Given the description of an element on the screen output the (x, y) to click on. 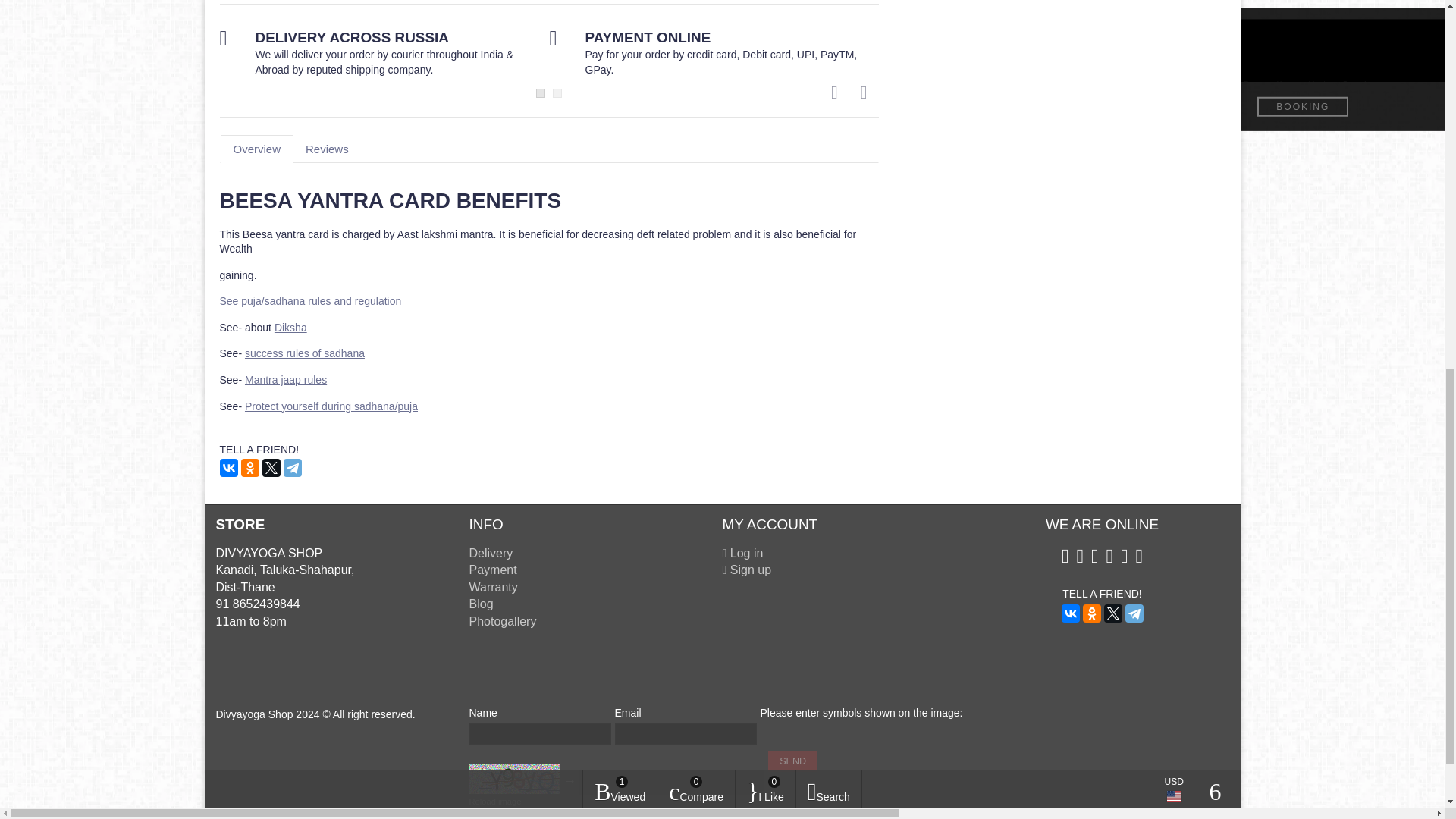
BOOKING (1012, 107)
BOOKING (1302, 107)
Send (792, 761)
